Given the description of an element on the screen output the (x, y) to click on. 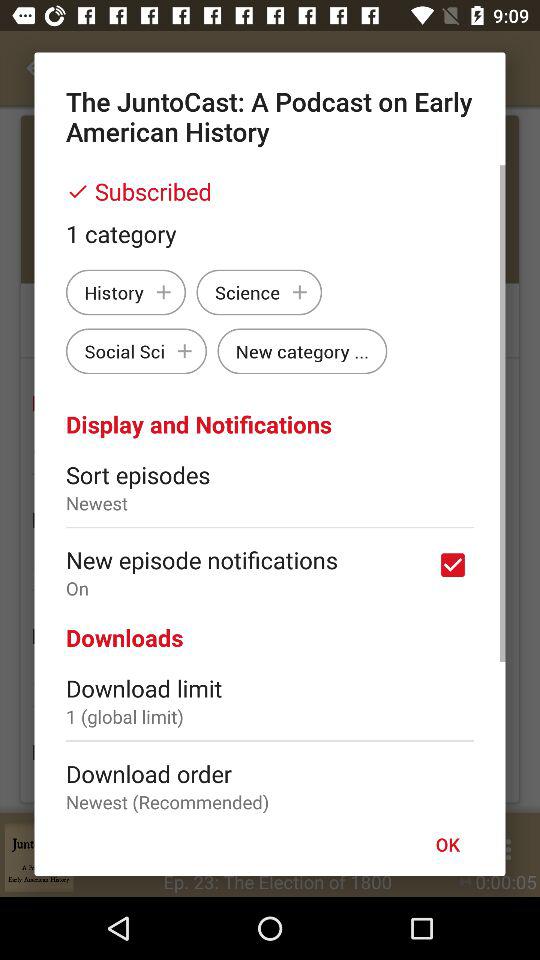
tap item above the 1 category item (269, 191)
